Given the description of an element on the screen output the (x, y) to click on. 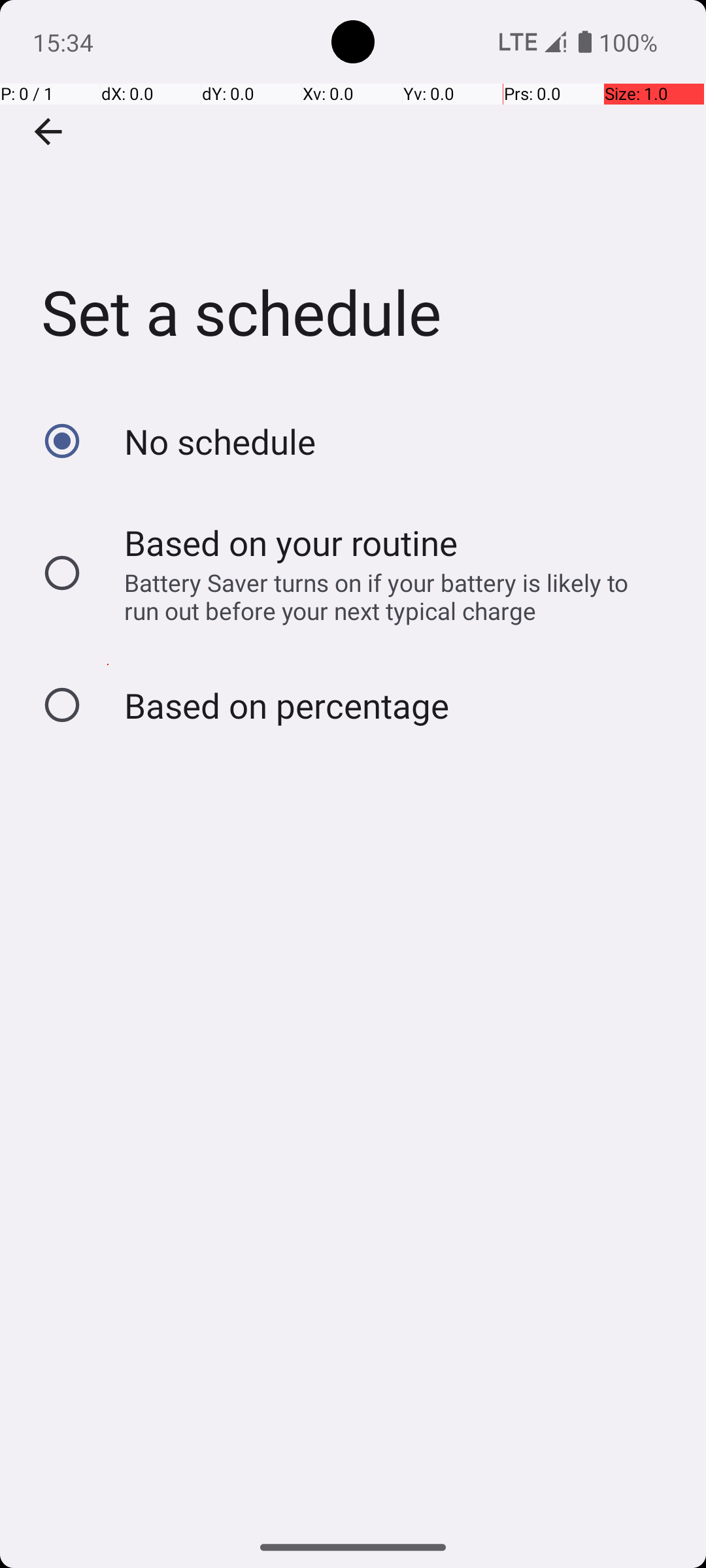
Set a schedule Element type: android.widget.FrameLayout (353, 195)
No schedule Element type: android.widget.TextView (219, 441)
Based on your routine Element type: android.widget.TextView (291, 542)
Battery Saver turns on if your battery is likely to run out before your next typical charge Element type: android.widget.TextView (387, 596)
Based on percentage Element type: android.widget.TextView (286, 705)
